Given the description of an element on the screen output the (x, y) to click on. 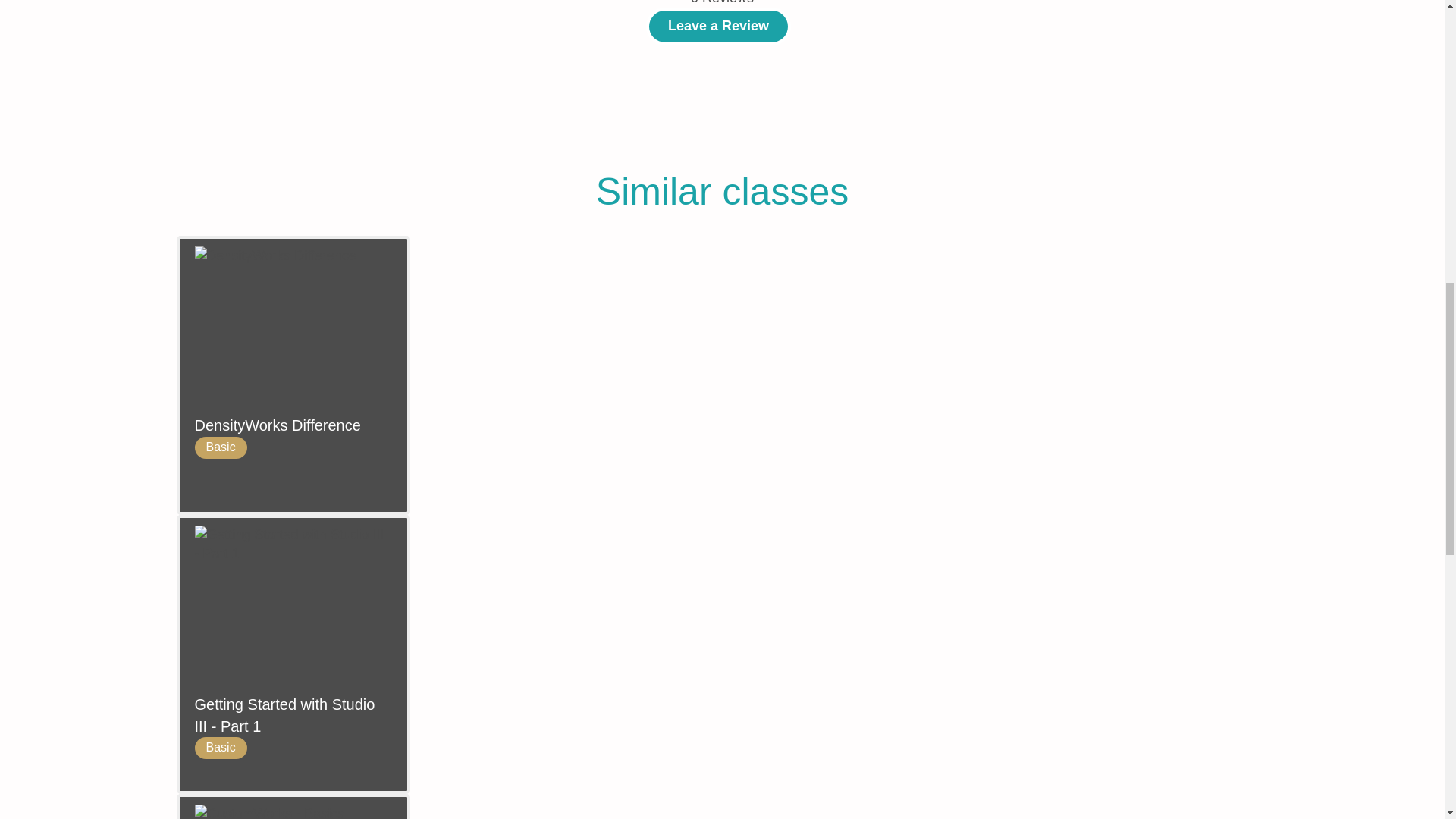
Leave a Review (718, 26)
Getting Started with Studio III - Part 1 (292, 715)
DensityWorks Difference (292, 425)
